Given the description of an element on the screen output the (x, y) to click on. 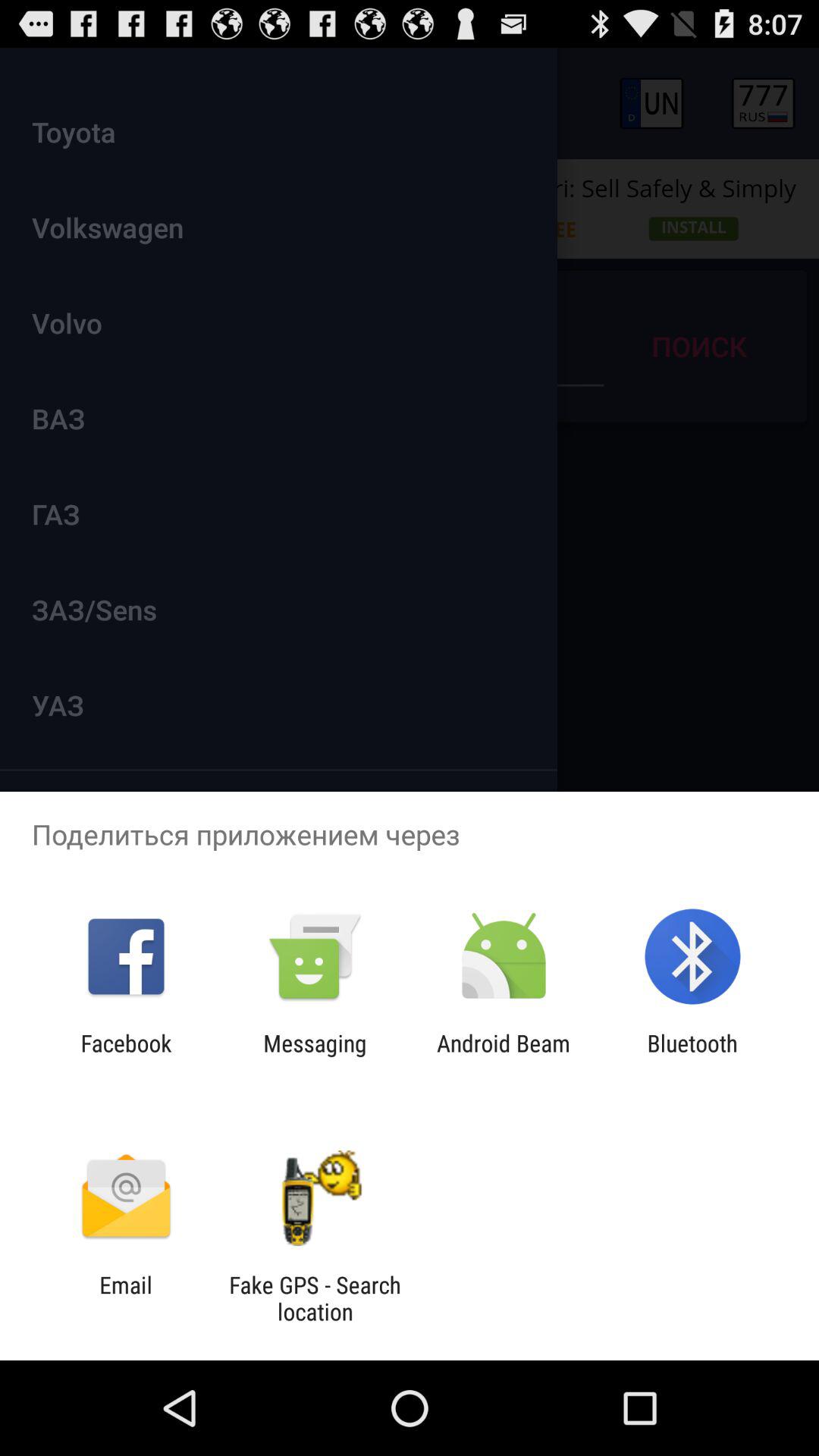
turn off app next to the android beam icon (314, 1056)
